Given the description of an element on the screen output the (x, y) to click on. 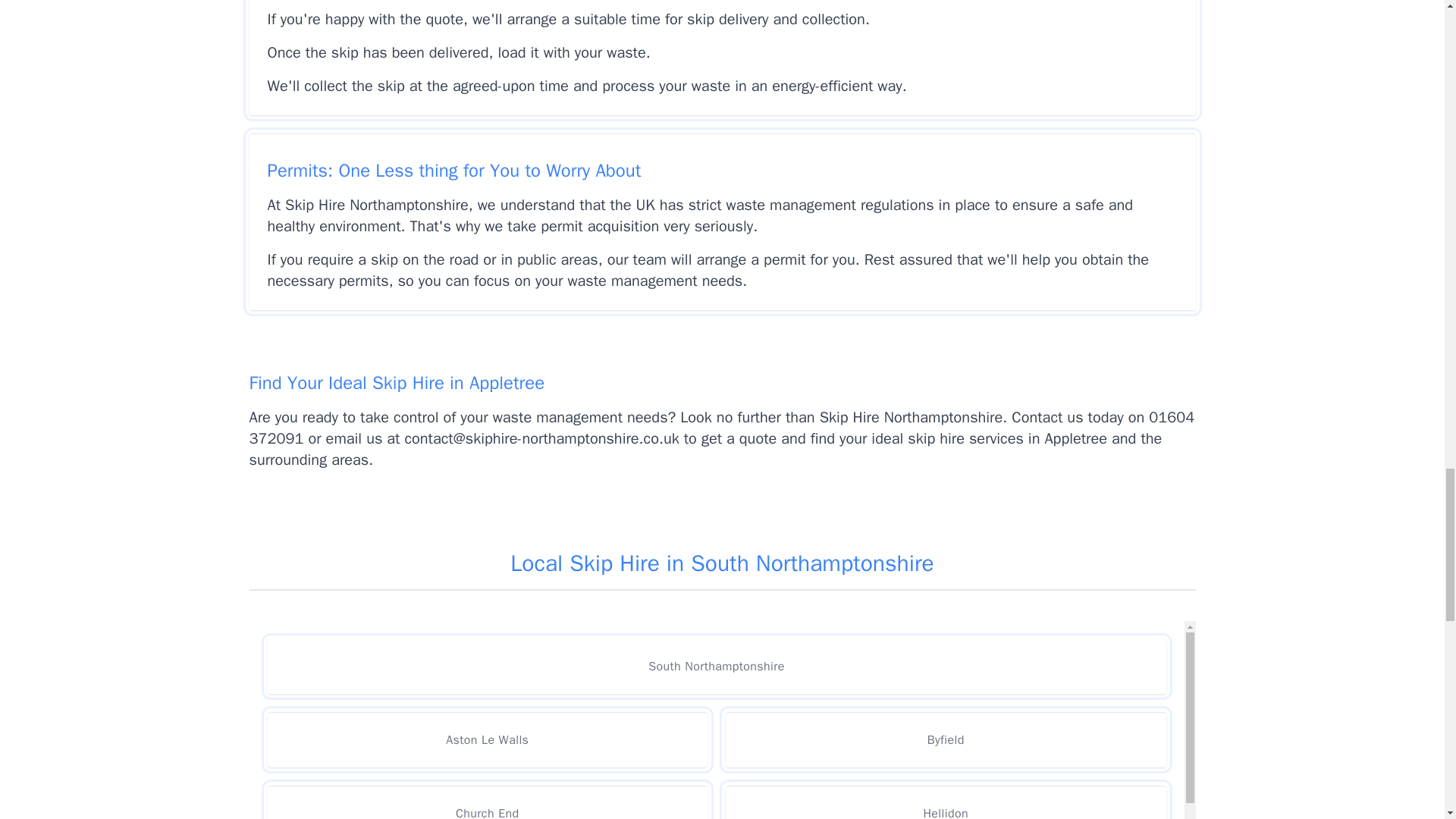
Hellidon (945, 802)
Church End (486, 802)
Byfield (945, 739)
Aston Le Walls (486, 739)
South Northamptonshire (716, 666)
